Given the description of an element on the screen output the (x, y) to click on. 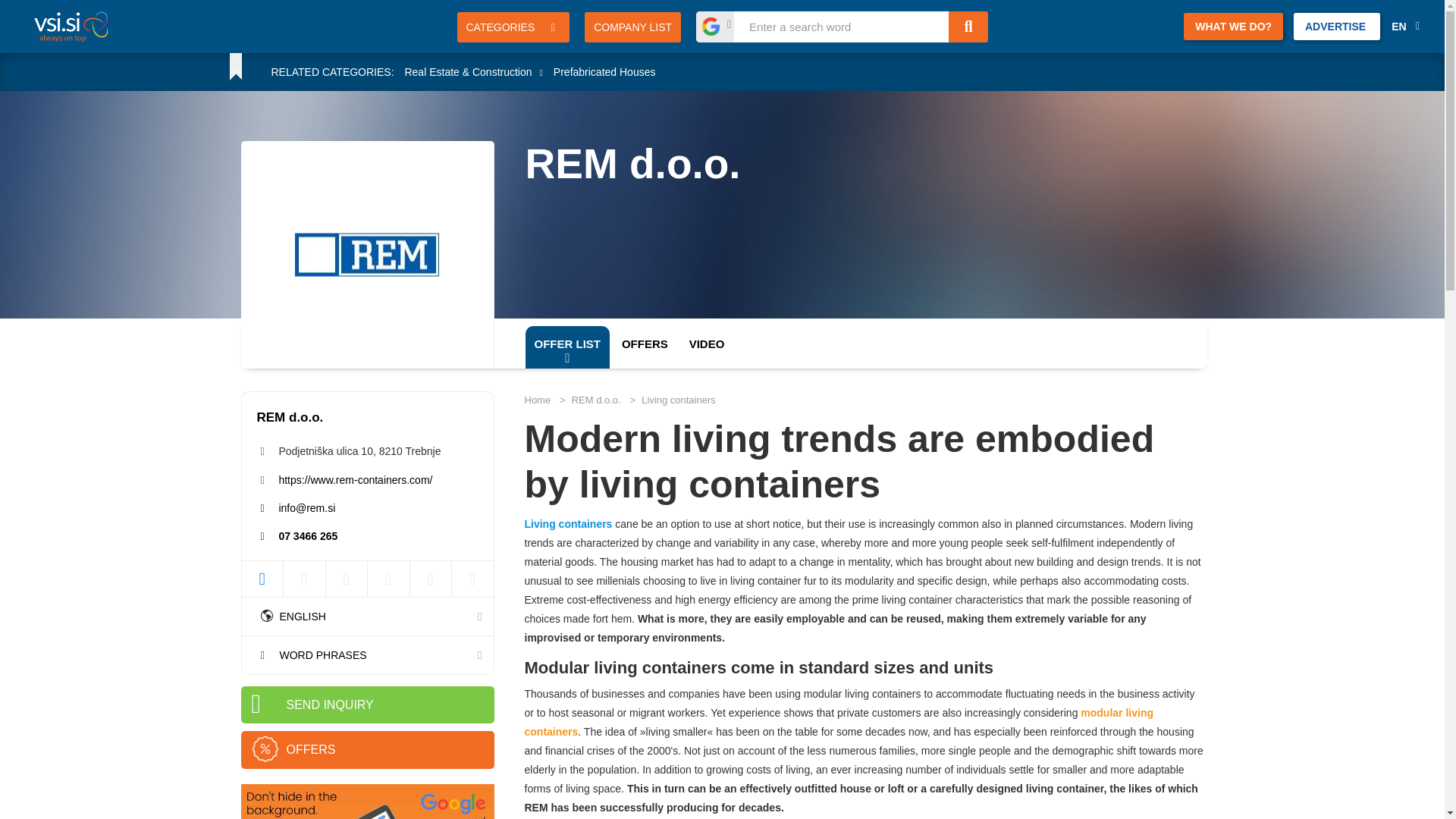
CATEGORIES (513, 27)
Prefabricated Houses (604, 71)
WHAT WE DO? (1232, 26)
Modular living container REM (839, 721)
Living containers REM (568, 523)
ADVERTISE (1337, 26)
REM d.o.o. (847, 163)
EN (1404, 26)
COMPANY LIST (633, 27)
